Given the description of an element on the screen output the (x, y) to click on. 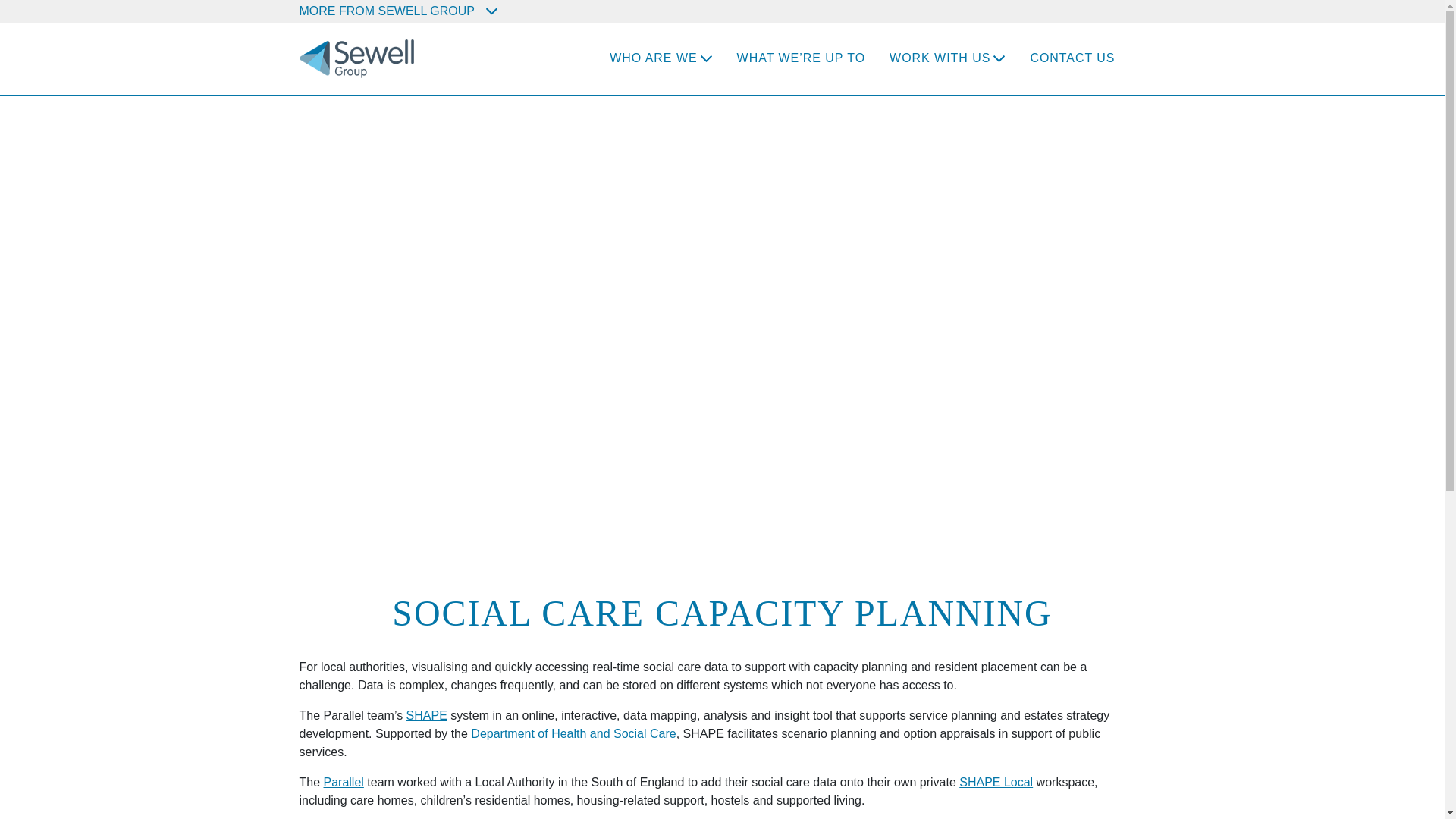
WHO ARE WE (653, 57)
LinkedIn (1135, 9)
Twitter (1115, 9)
WORK WITH US (939, 57)
MORE FROM SEWELL GROUP (397, 11)
CONTACT US (1072, 57)
